Given the description of an element on the screen output the (x, y) to click on. 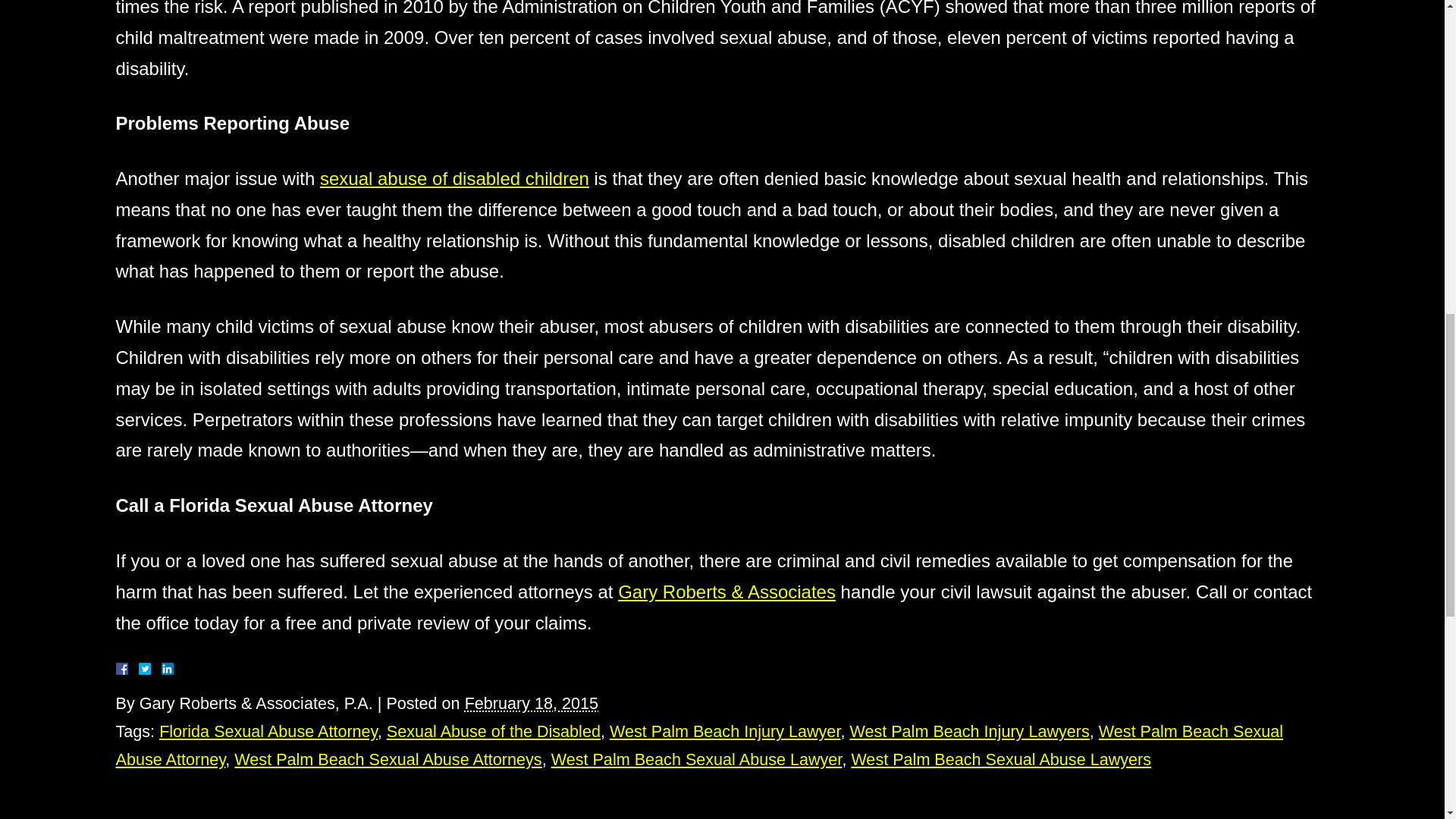
Facebook (139, 668)
LinkedIn (160, 668)
Twitter (149, 668)
2015-02-18T07:36:38-0800 (531, 702)
